Given the description of an element on the screen output the (x, y) to click on. 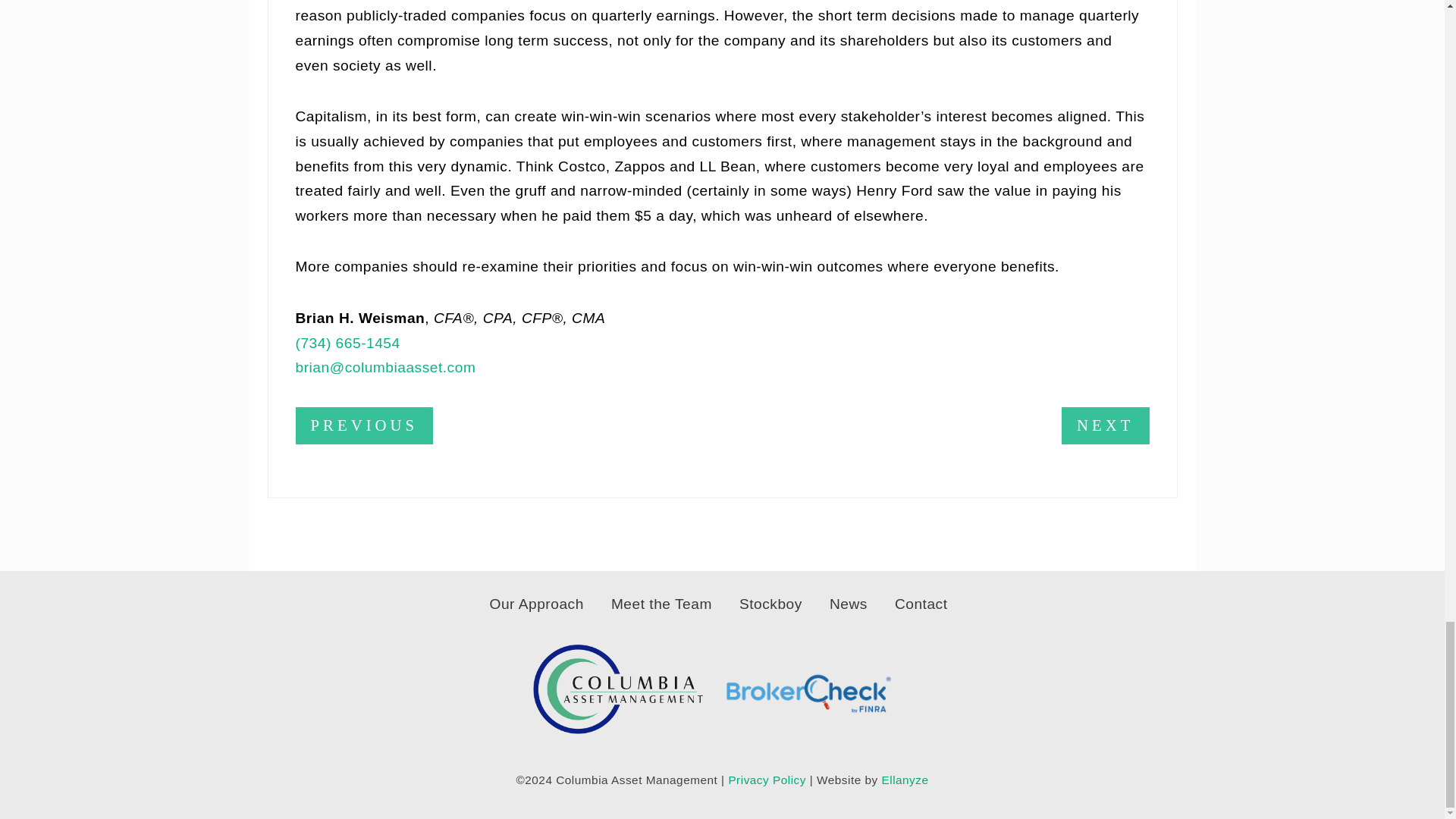
News (847, 603)
NEXT (1104, 426)
Stockboy (770, 603)
Contact (920, 603)
Our Approach (536, 603)
NEXT (1104, 425)
PREVIOUS (364, 426)
Meet the Team (660, 603)
PREVIOUS (364, 425)
